Given the description of an element on the screen output the (x, y) to click on. 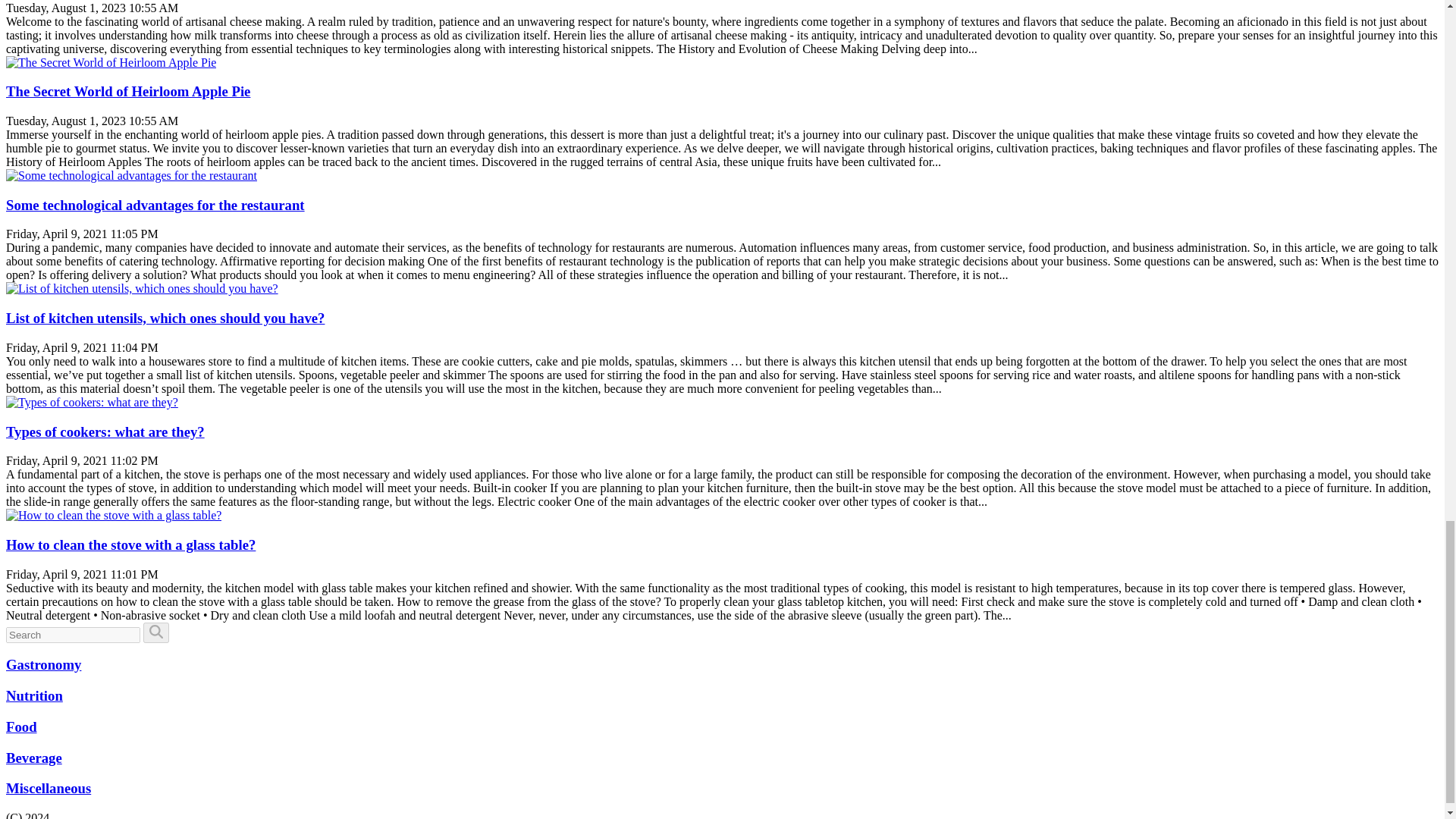
Types of cookers: what are they? (105, 431)
List of kitchen utensils, which ones should you have? (164, 317)
The Secret World of Heirloom Apple Pie (127, 91)
Some technological advantages for the restaurant (154, 204)
How to clean the stove with a glass table? (130, 544)
